Given the description of an element on the screen output the (x, y) to click on. 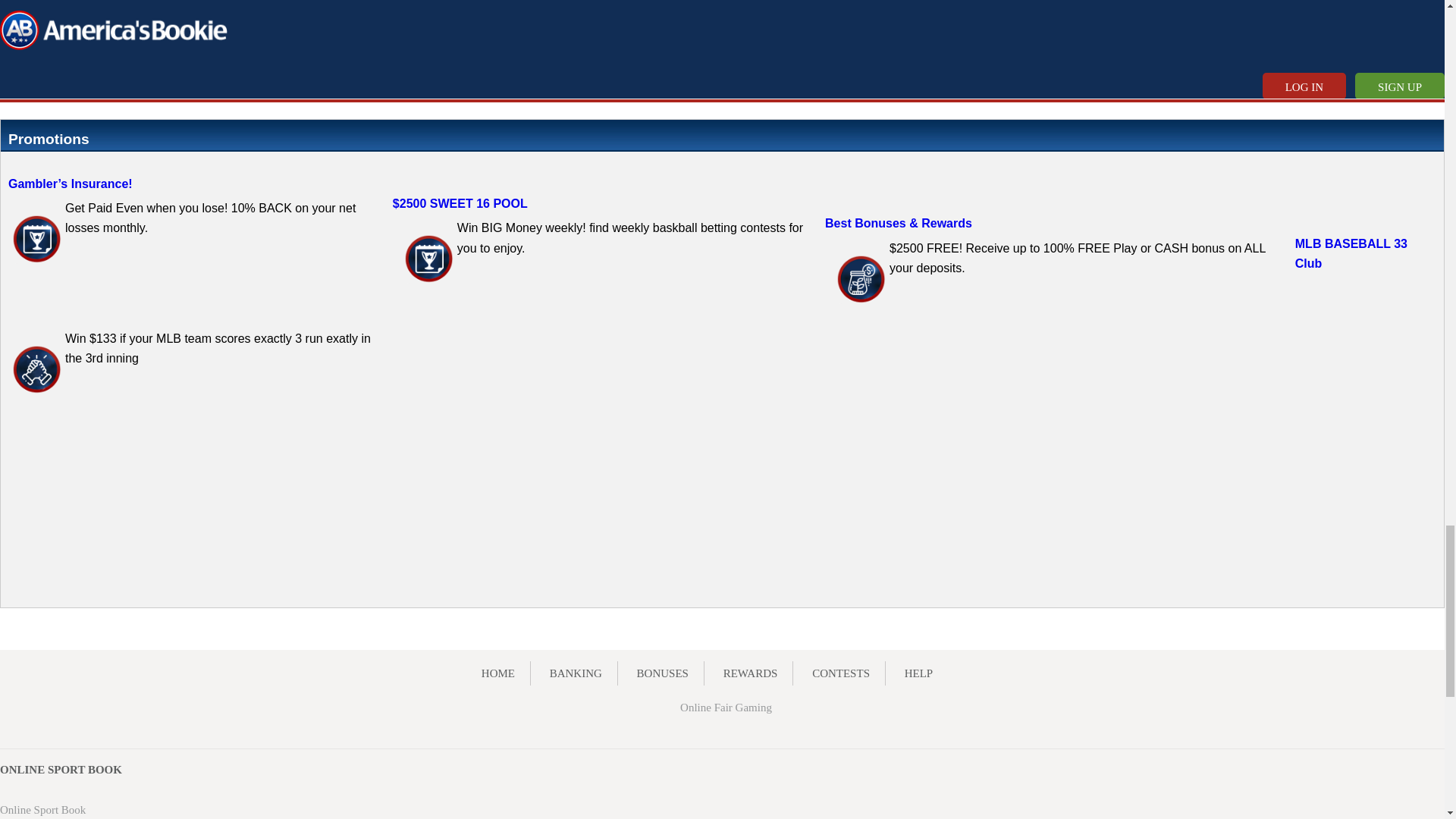
REWARDS (750, 673)
Online Sport Book (42, 809)
HELP (918, 673)
CONTESTS (840, 673)
BANKING (576, 673)
Last Man Standing Contest (428, 258)
HOME (498, 673)
Online Fair Gaming (725, 707)
BONUSES (662, 673)
MLB BASEBALL 33 Club (1351, 253)
Last Man Standing Contest (36, 238)
